Given the description of an element on the screen output the (x, y) to click on. 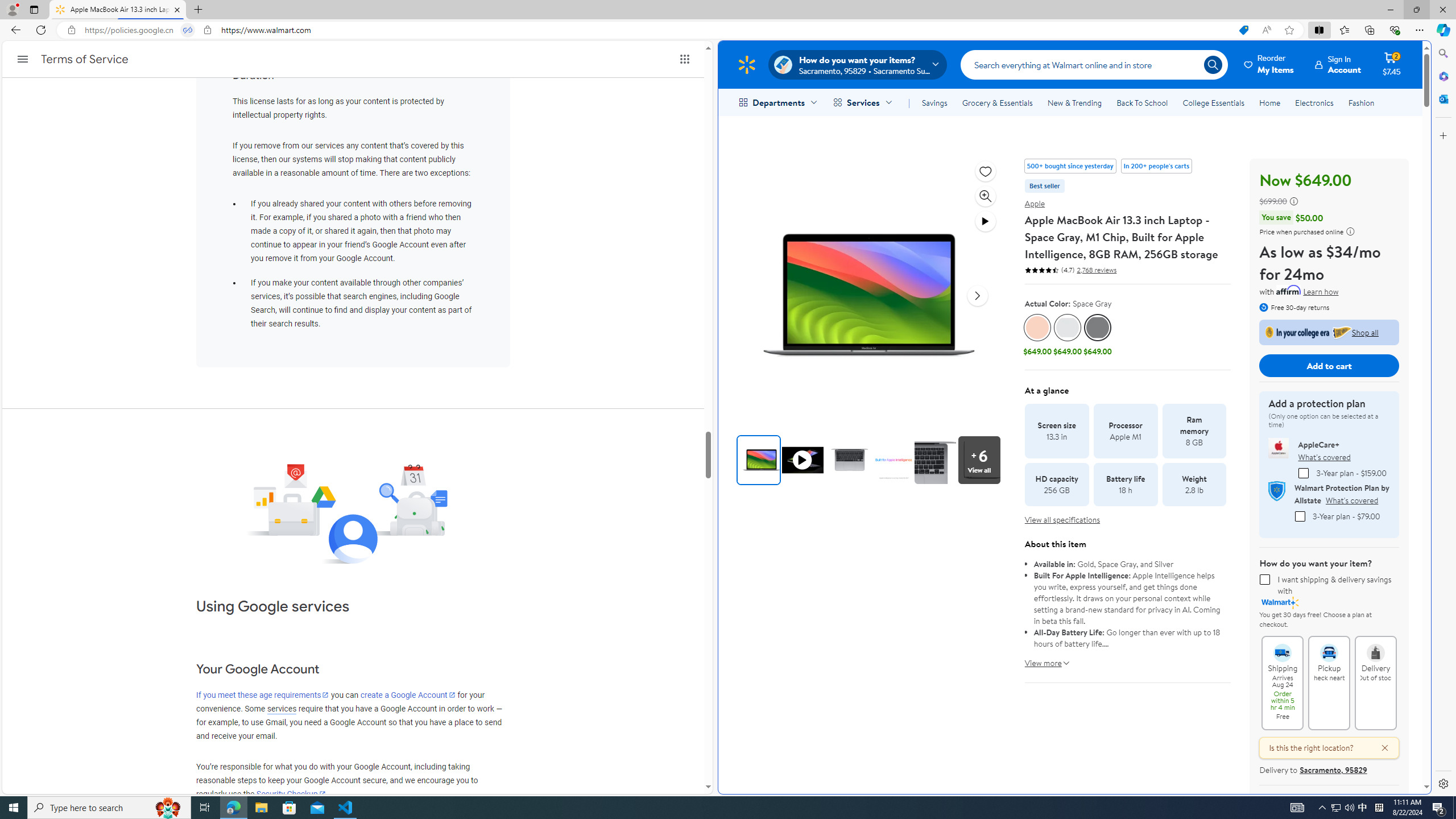
Walmart plus (1280, 602)
Sign In Account (1338, 64)
Fashion (1361, 102)
Free 30-day returns (1294, 306)
Grocery & Essentials (997, 102)
Available in: Gold, Space Gray, and Silver (1127, 564)
Affirm (1288, 289)
Savings (933, 102)
